Given the description of an element on the screen output the (x, y) to click on. 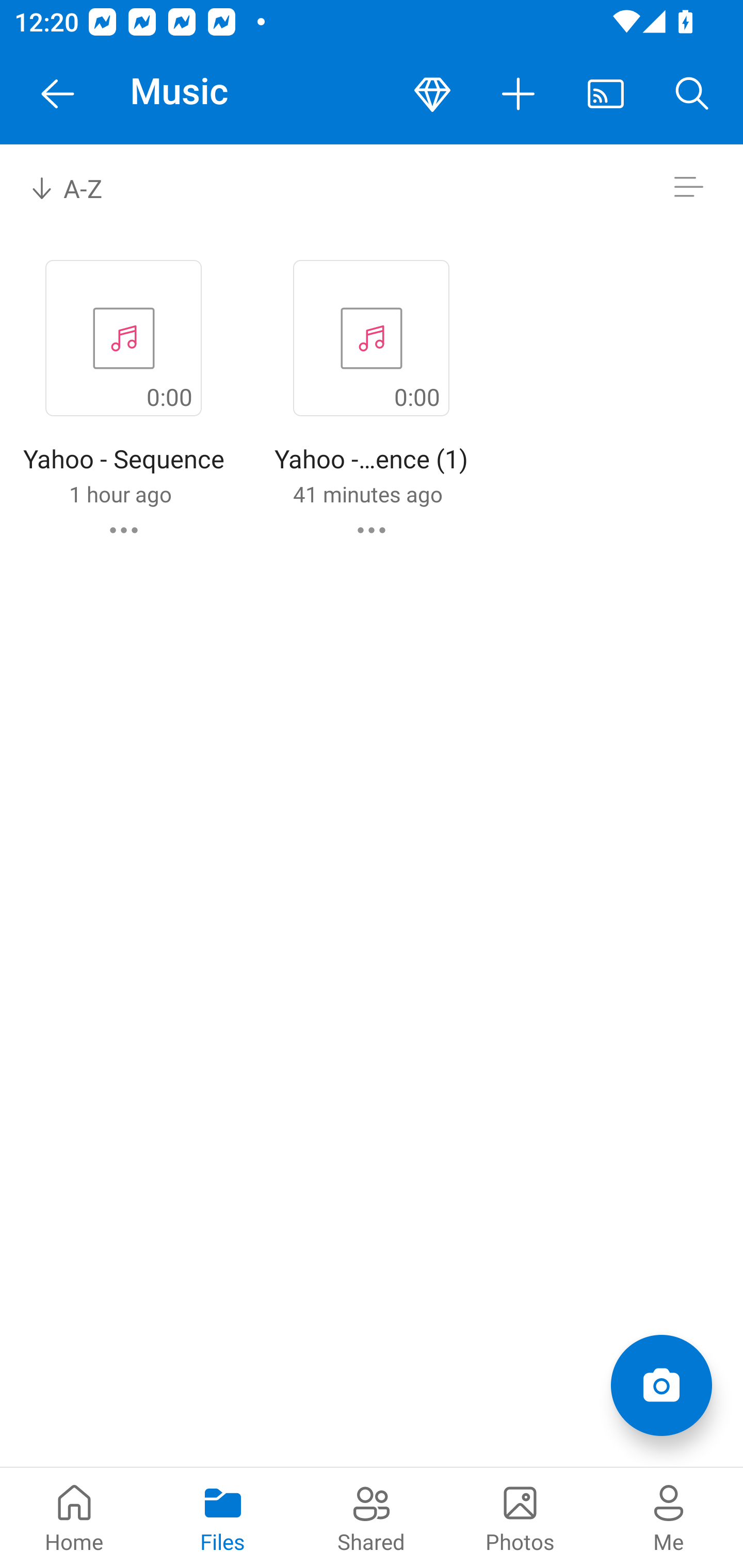
Navigate Up (57, 93)
Cast. Disconnected (605, 93)
Premium button (432, 93)
More actions button (518, 93)
Search button (692, 93)
A-Z Sort by combo box, sort by name, A to Z (80, 187)
Switch to list view (688, 187)
1 hour ago (119, 493)
41 minutes ago (367, 493)
Yahoo - Sequence commands (123, 529)
Yahoo - Sequence (1) commands (371, 529)
Add items Scan (660, 1385)
Home pivot Home (74, 1517)
Shared pivot Shared (371, 1517)
Photos pivot Photos (519, 1517)
Me pivot Me (668, 1517)
